Given the description of an element on the screen output the (x, y) to click on. 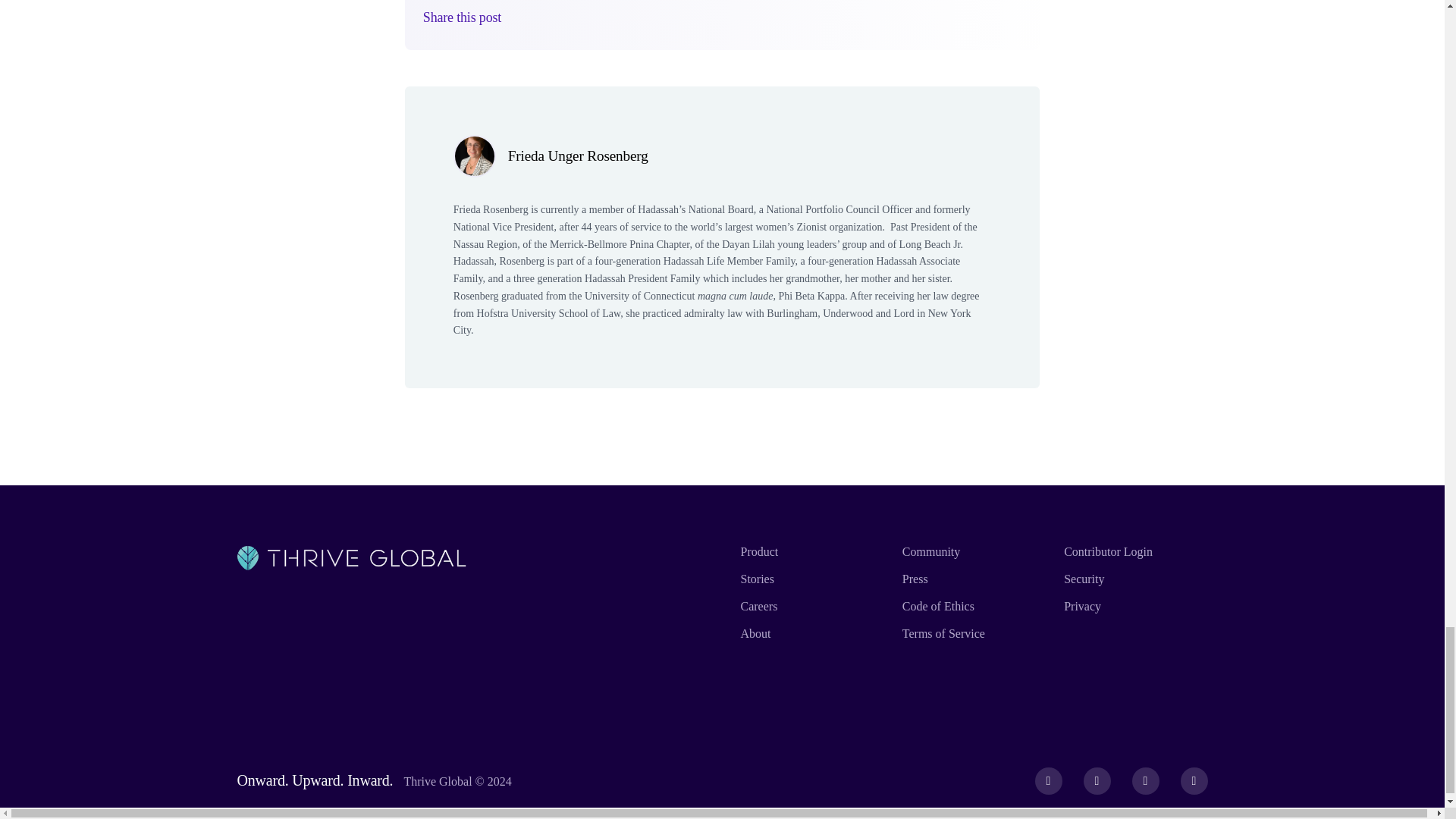
Frieda Unger Rosenberg (577, 155)
